Given the description of an element on the screen output the (x, y) to click on. 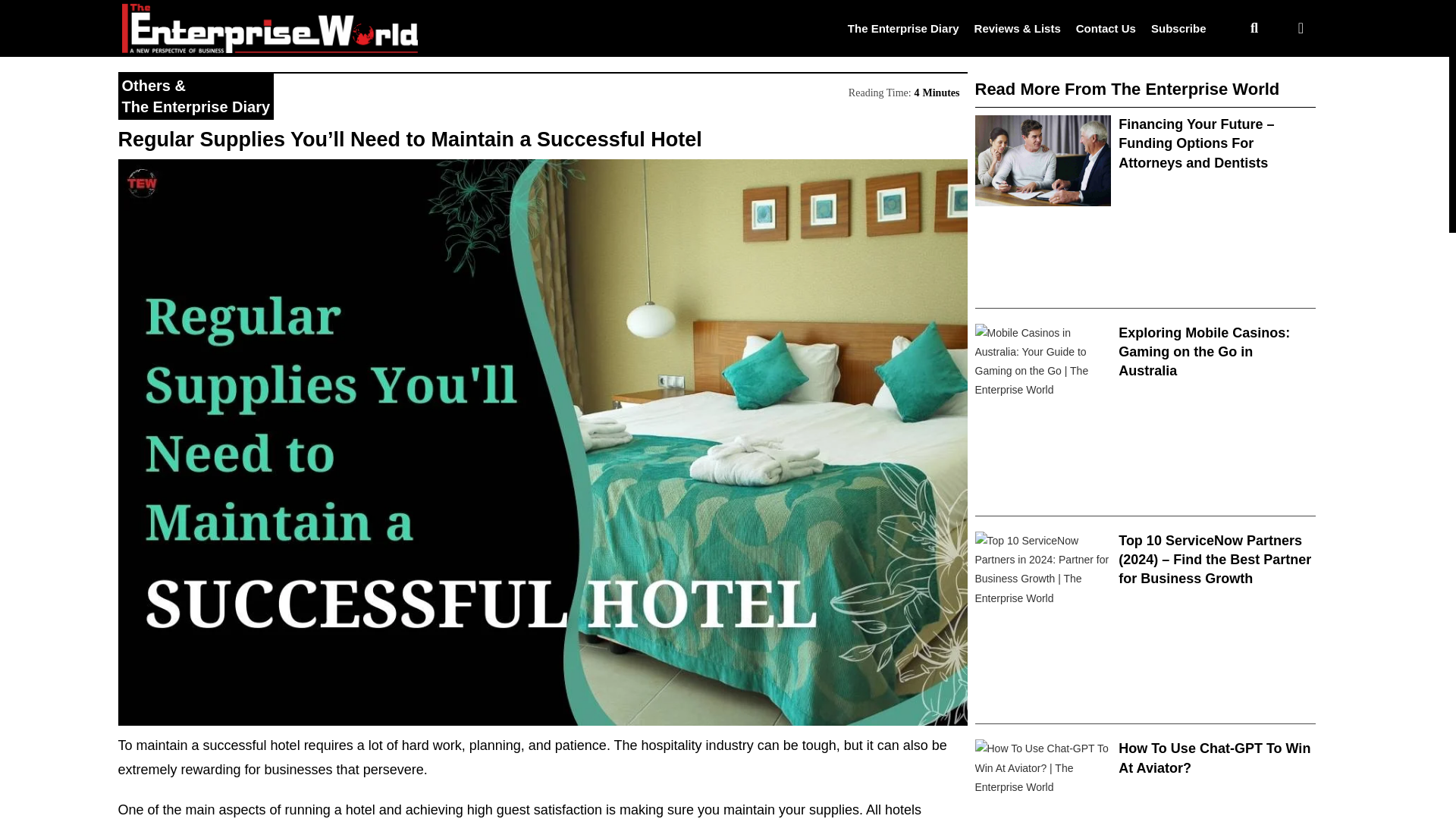
The Enterprise Diary (194, 106)
The Enterprise Diary (903, 28)
Others (145, 85)
How To Use Chat-GPT To Win At Aviator? (1214, 757)
Subscribe (1179, 28)
Contact Us (1105, 28)
Exploring Mobile Casinos: Gaming on the Go in Australia  (1204, 351)
